Given the description of an element on the screen output the (x, y) to click on. 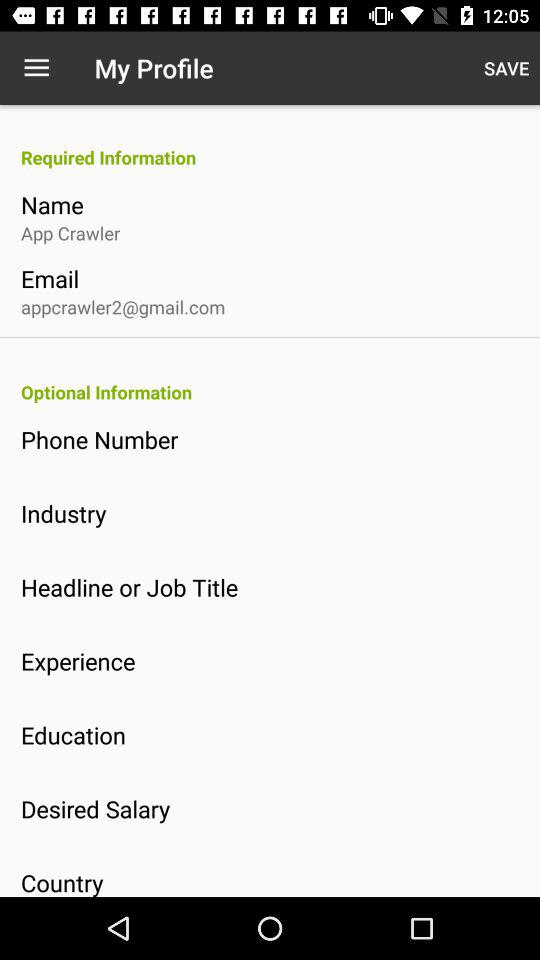
turn off icon above the required information item (506, 67)
